Given the description of an element on the screen output the (x, y) to click on. 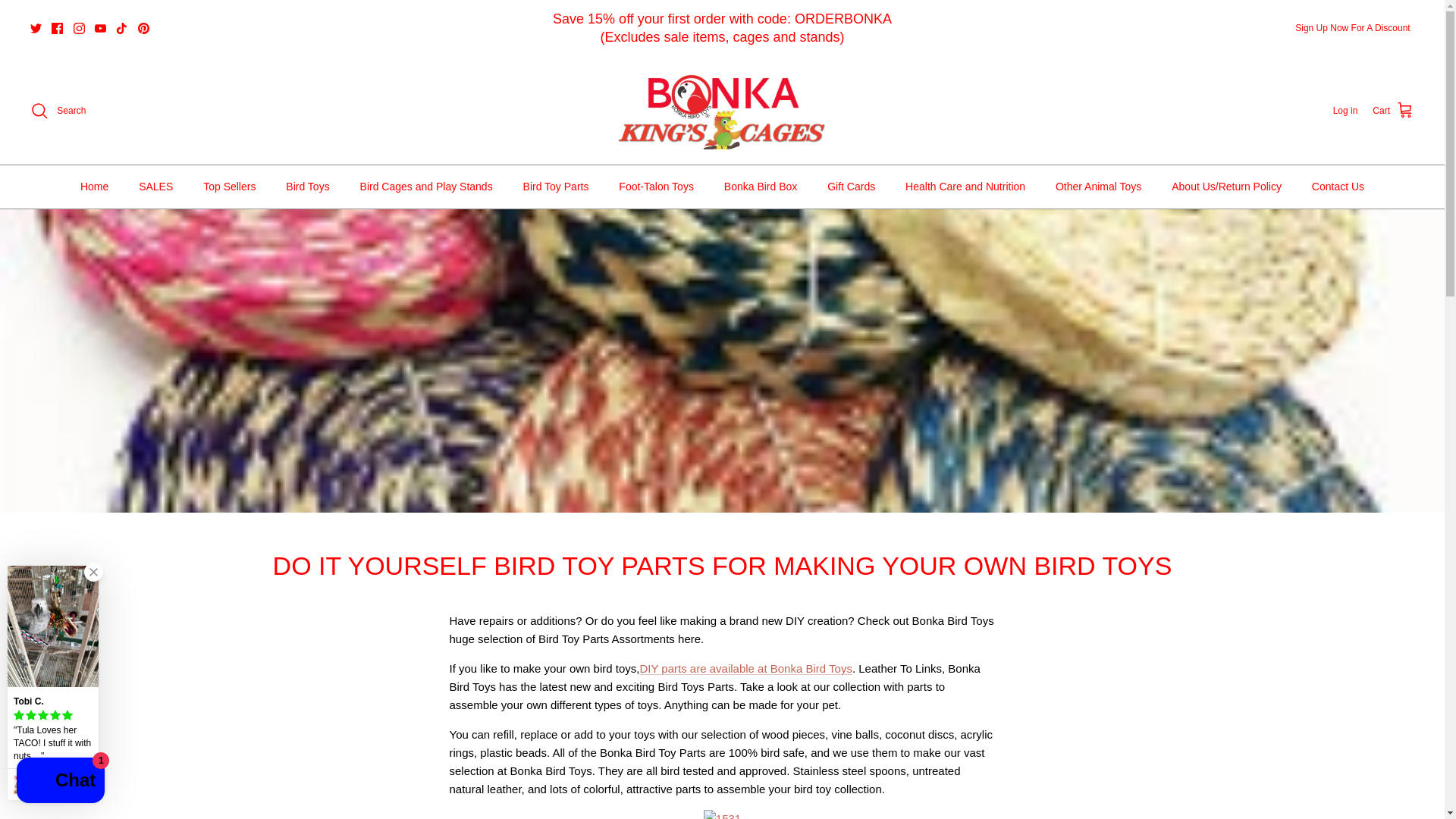
SALES (155, 186)
Twitter (36, 28)
Youtube (100, 28)
1531 (722, 814)
950 Taco Bird Toy (66, 783)
Search (57, 110)
Pinterest (143, 28)
Instagram (79, 28)
Bonka Bird Toys (722, 110)
Twitter (36, 28)
Cart (1393, 110)
Log in (1345, 110)
Facebook (56, 28)
Youtube (100, 28)
